Given the description of an element on the screen output the (x, y) to click on. 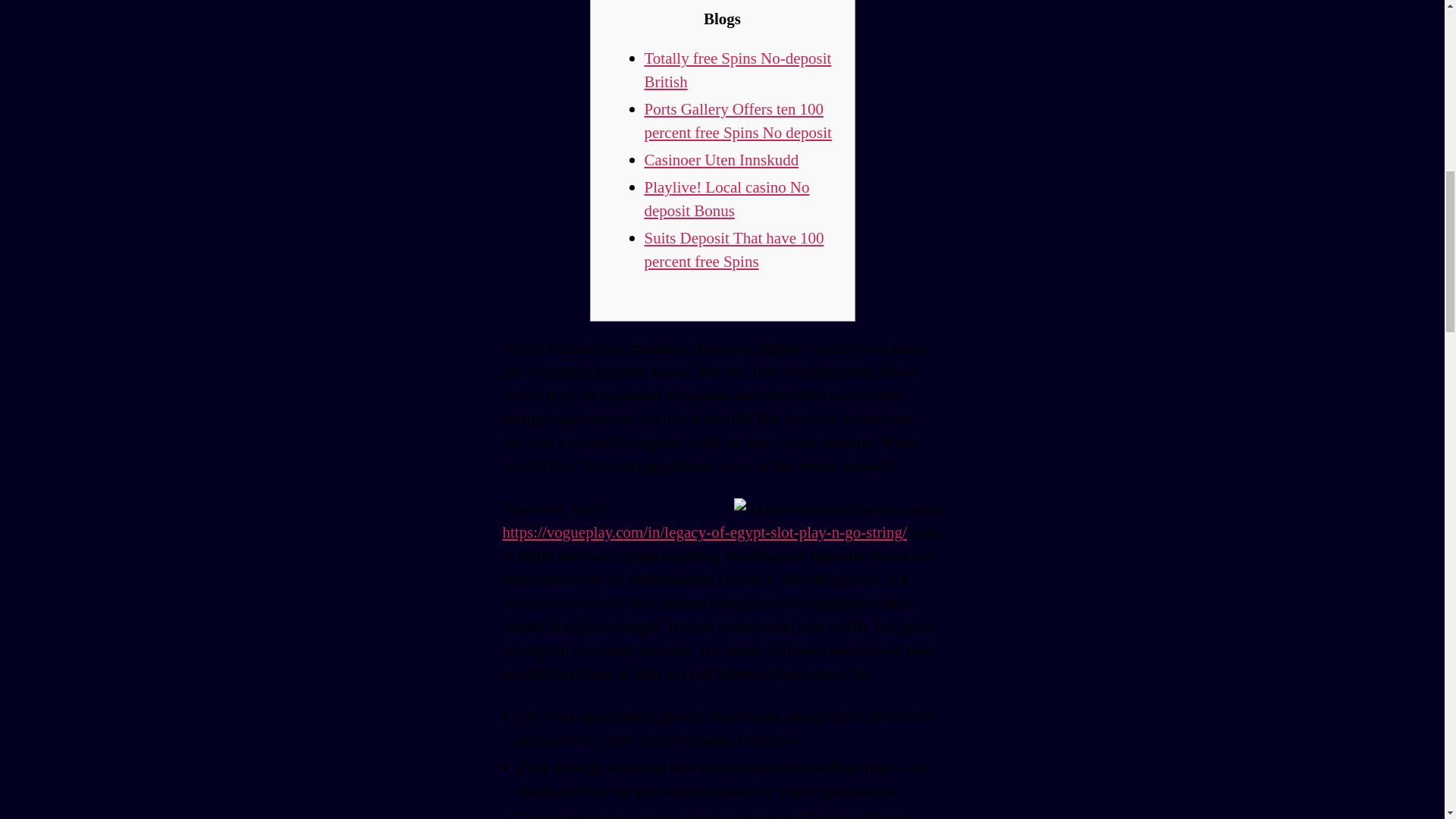
Totally free Spins No-deposit British (738, 70)
Ports Gallery Offers ten 100 percent free Spins No deposit (738, 121)
Casinoer Uten Innskudd (722, 159)
Playlive! Local casino No deposit Bonus (727, 199)
Suits Deposit That have 100 percent free Spins (734, 249)
